Given the description of an element on the screen output the (x, y) to click on. 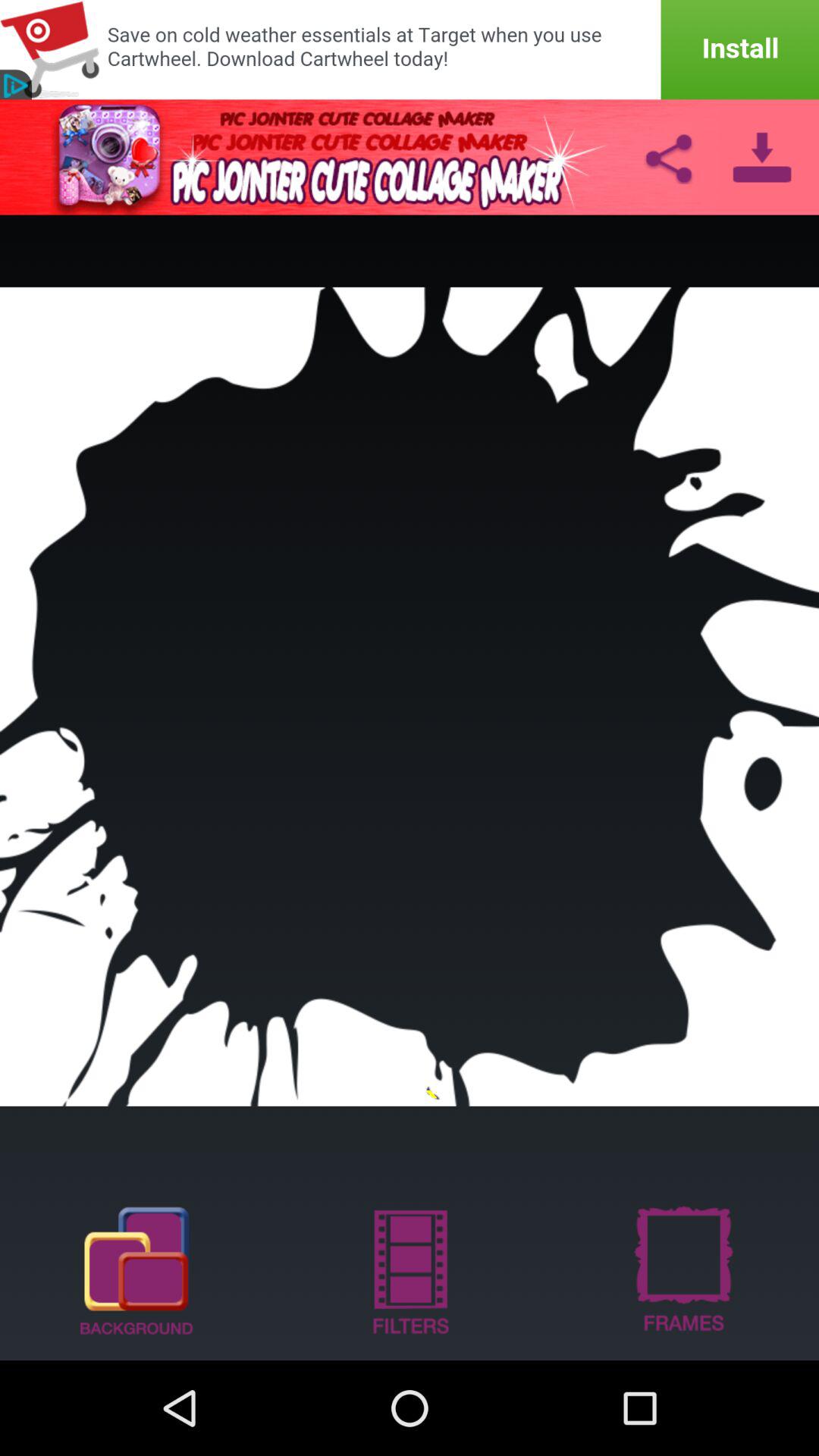
share link (668, 156)
